Given the description of an element on the screen output the (x, y) to click on. 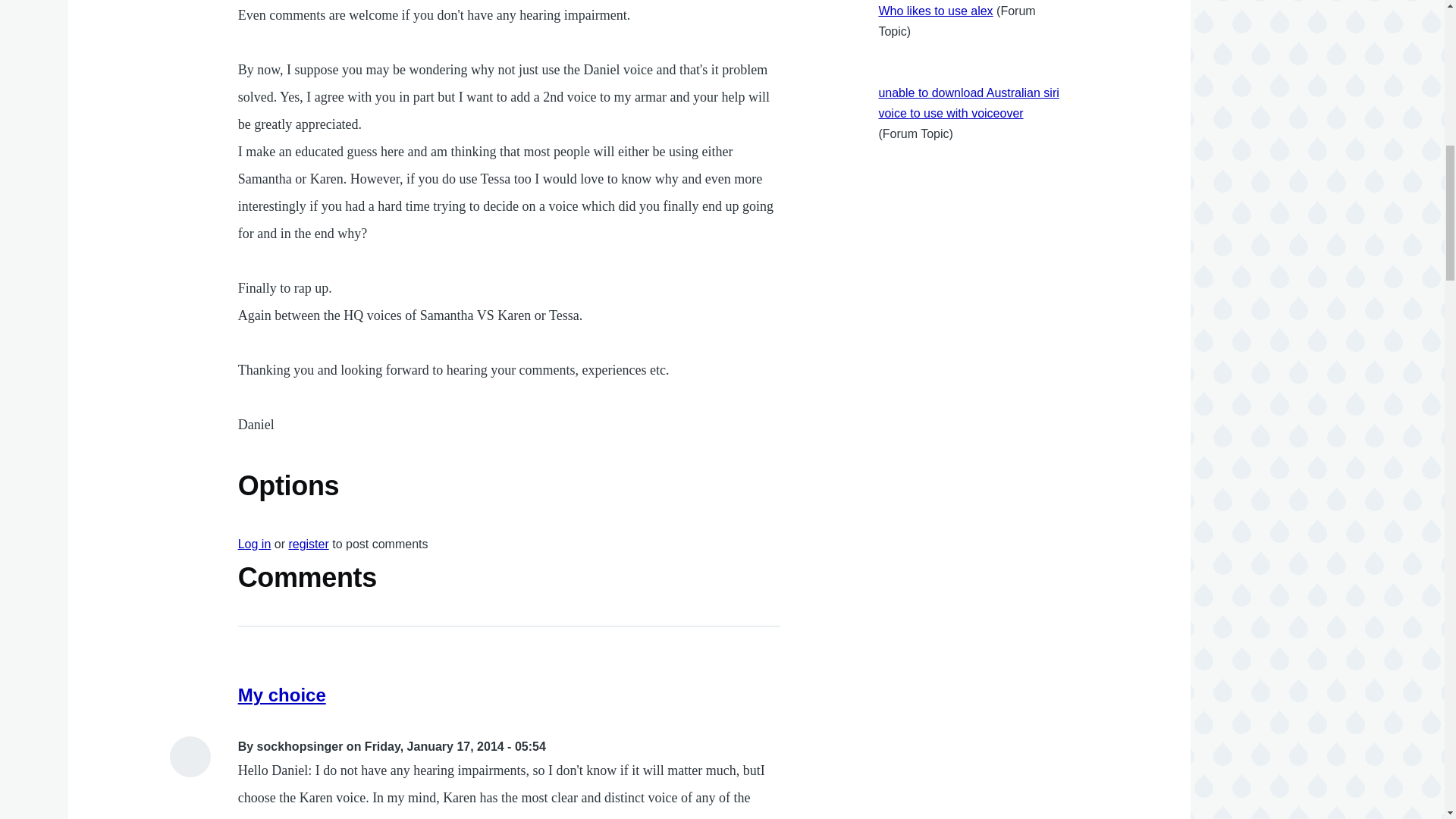
Log in (254, 543)
My choice (282, 694)
register (308, 543)
